Given the description of an element on the screen output the (x, y) to click on. 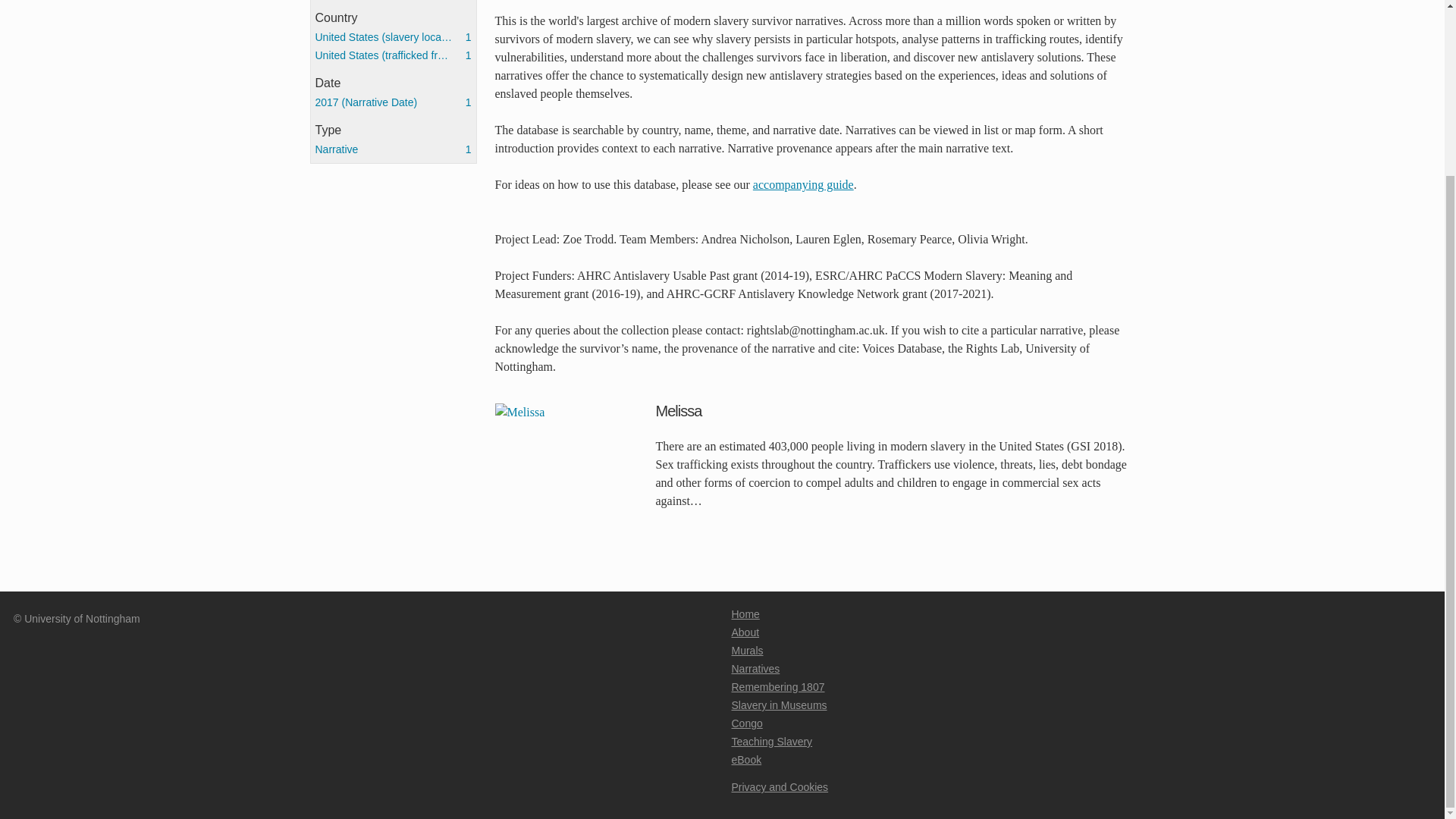
Teaching Slavery (771, 741)
Home (744, 613)
Privacy and Cookies (779, 787)
Narrative (393, 149)
Murals (746, 650)
Narratives (754, 668)
accompanying guide (802, 184)
Remembering 1807 (777, 686)
Slavery in Museums (778, 705)
Congo (745, 723)
eBook (745, 759)
About (744, 632)
